Given the description of an element on the screen output the (x, y) to click on. 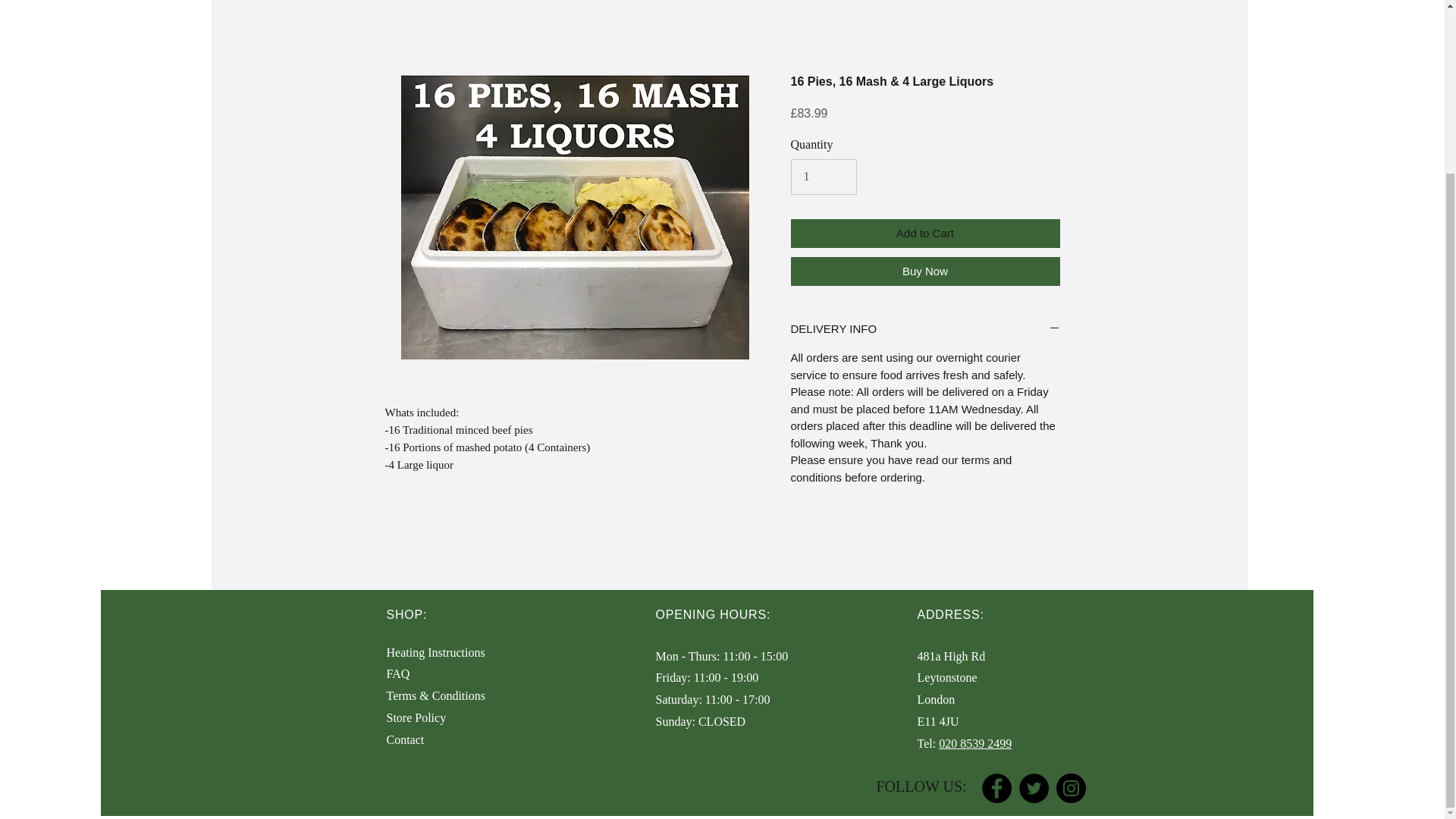
Contact (406, 739)
FAQ (398, 673)
1 (823, 176)
020 8539 2499 (975, 743)
Store Policy (416, 717)
Buy Now (924, 271)
Heating Instructions (435, 652)
DELIVERY INFO (924, 329)
Add to Cart (924, 233)
